Given the description of an element on the screen output the (x, y) to click on. 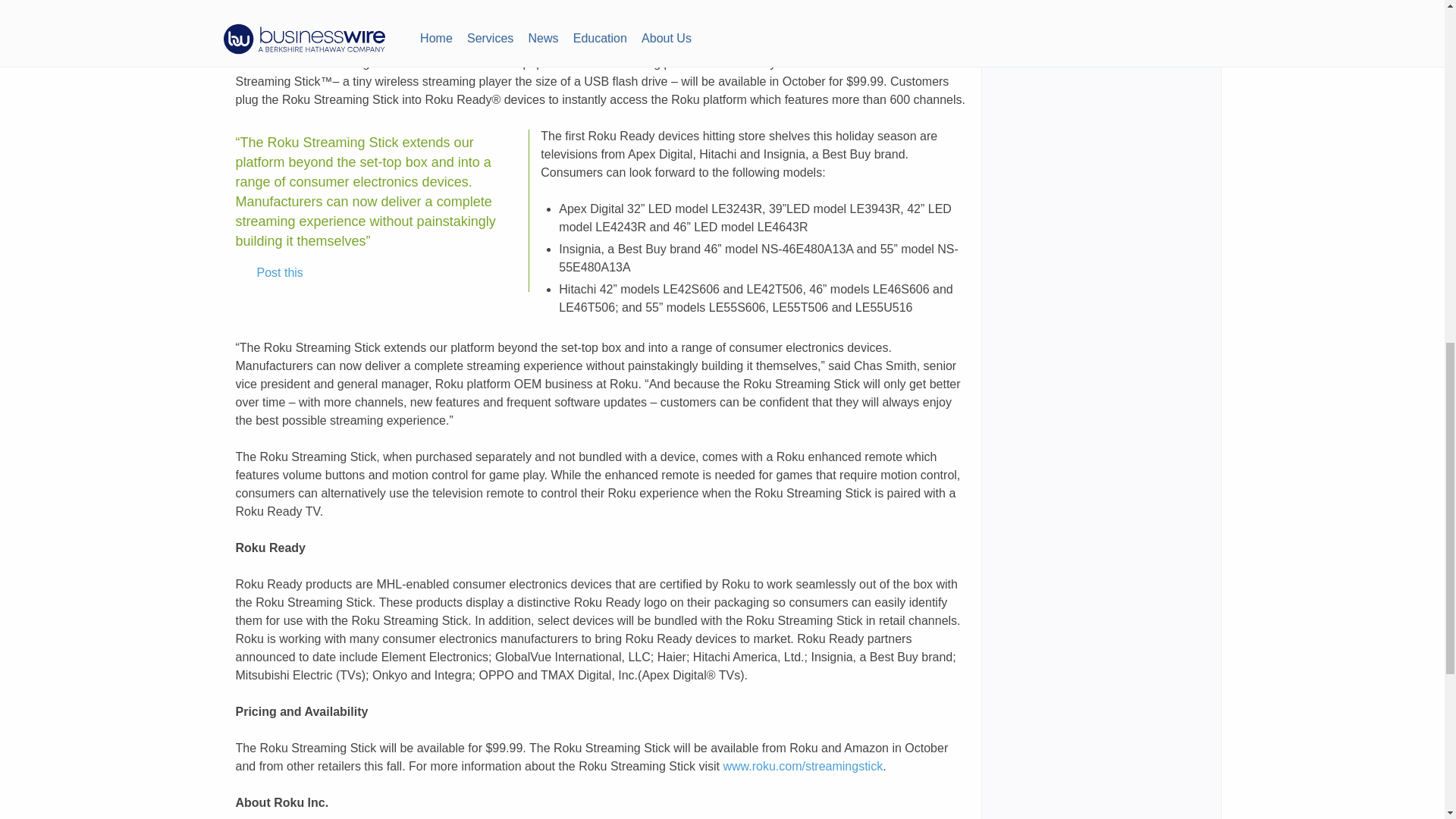
BUSINESS WIRE (395, 44)
Post this (269, 272)
